Given the description of an element on the screen output the (x, y) to click on. 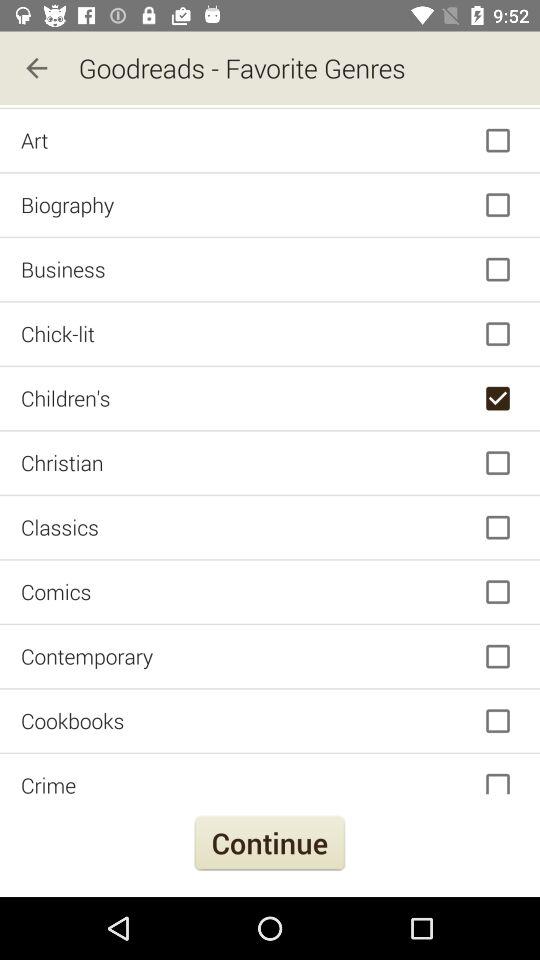
launch the item above cookbooks item (270, 656)
